Given the description of an element on the screen output the (x, y) to click on. 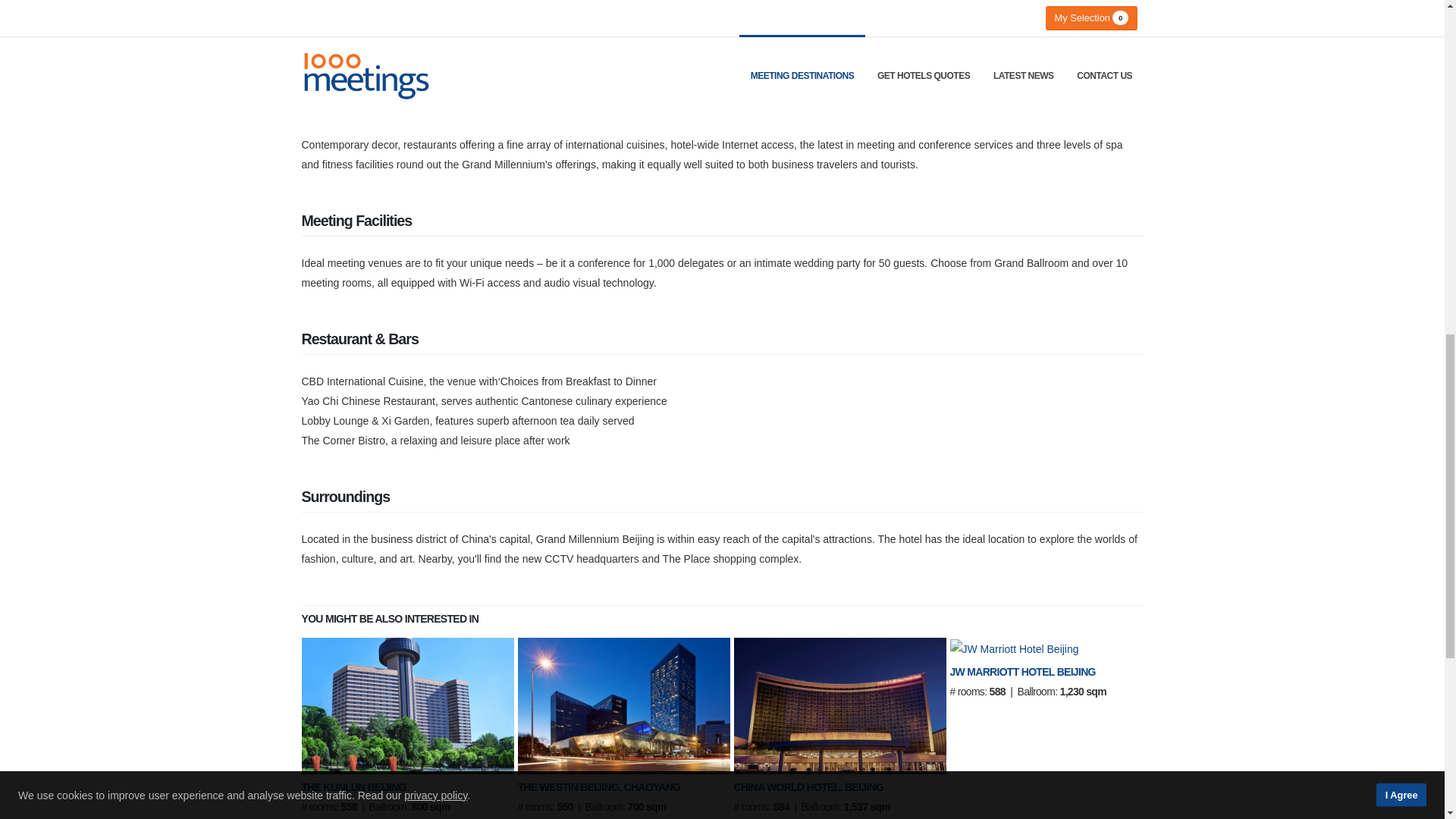
THE KUNLUN BEIJING (353, 787)
